Given the description of an element on the screen output the (x, y) to click on. 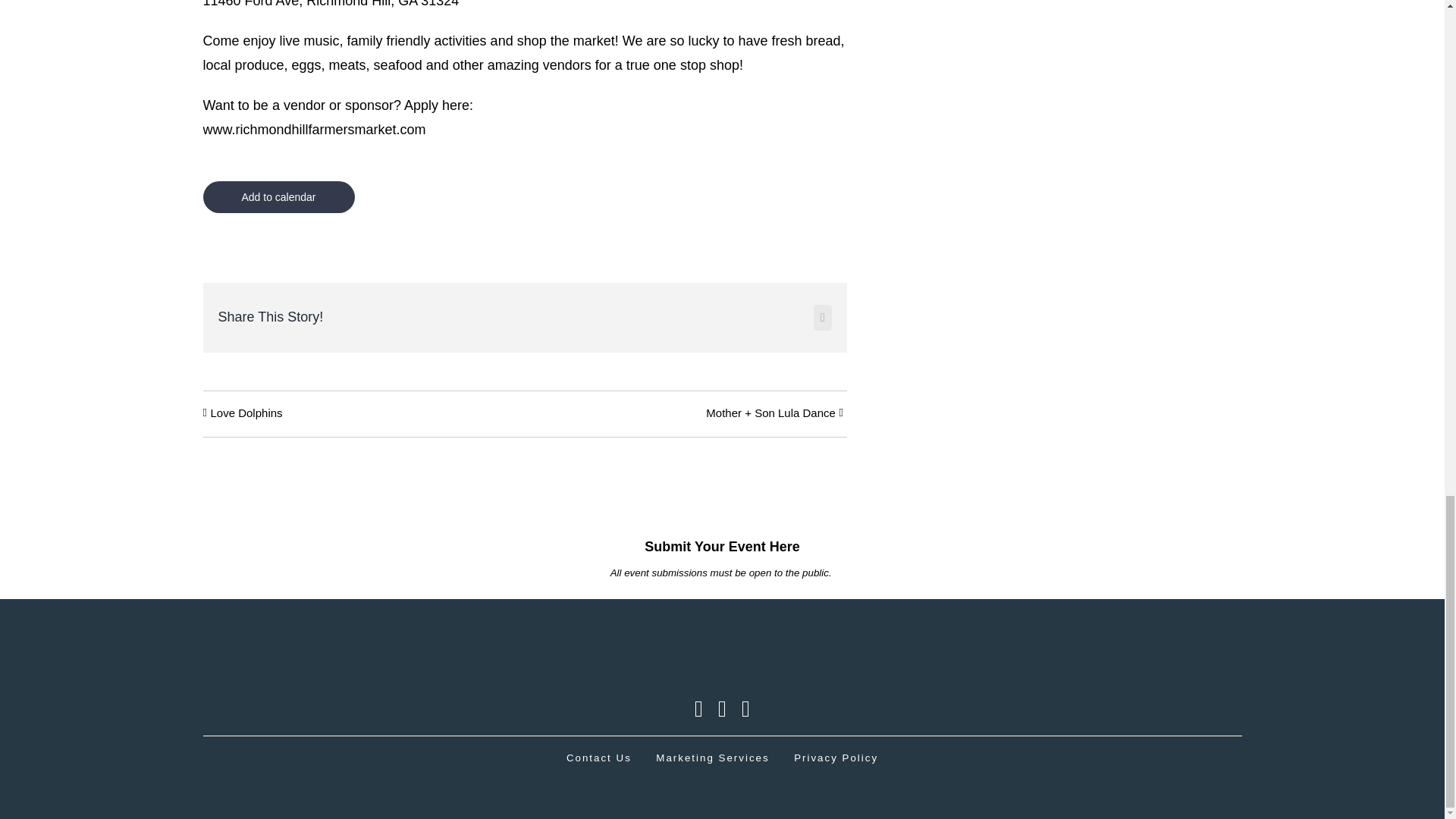
Living-white2 (722, 654)
